Given the description of an element on the screen output the (x, y) to click on. 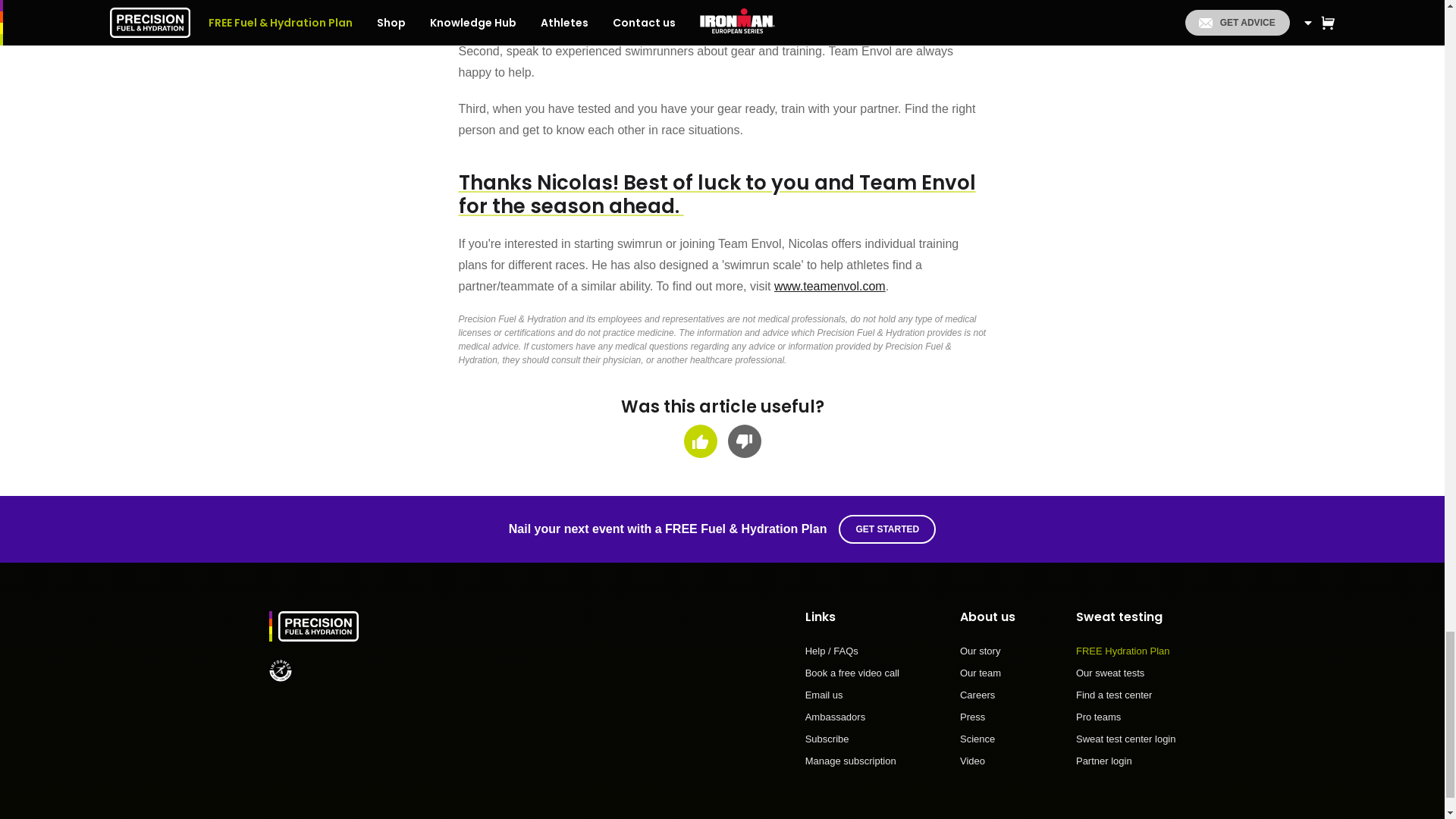
Email us (852, 700)
Press (986, 722)
Science (986, 744)
www.teamenvol.com (829, 286)
Ambassadors (852, 722)
Team Envol website (829, 286)
FREE Hydration Plan (1125, 657)
Video (986, 760)
GET STARTED (887, 529)
Our team (986, 679)
